Given the description of an element on the screen output the (x, y) to click on. 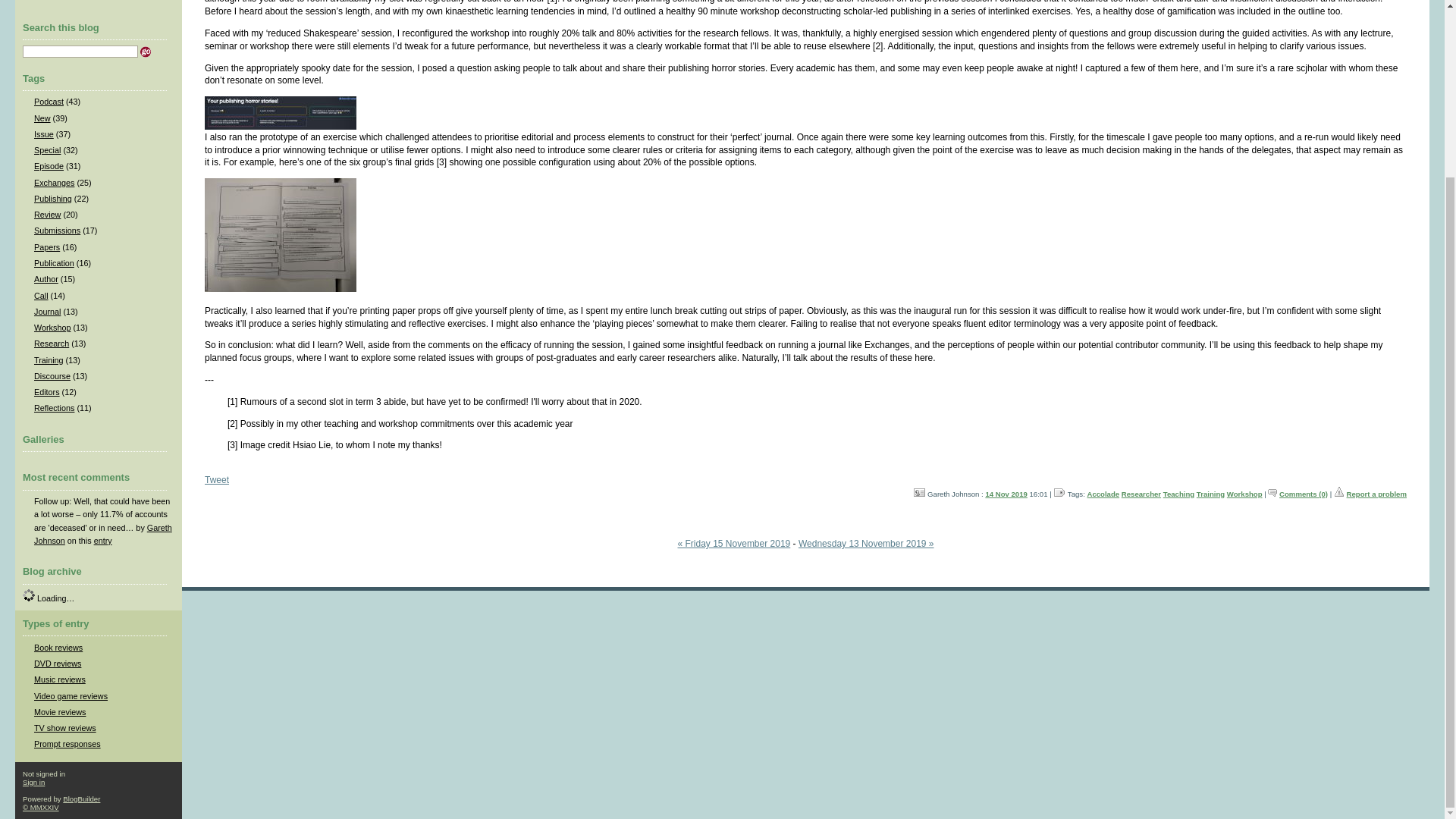
Researcher (1140, 493)
Publication (53, 262)
Papers (46, 246)
Read all entries written on this date (1005, 493)
Teaching (1178, 493)
Issue (43, 133)
Episode (48, 165)
Review (47, 214)
Process Document (280, 288)
Report a problem (1376, 493)
